Given the description of an element on the screen output the (x, y) to click on. 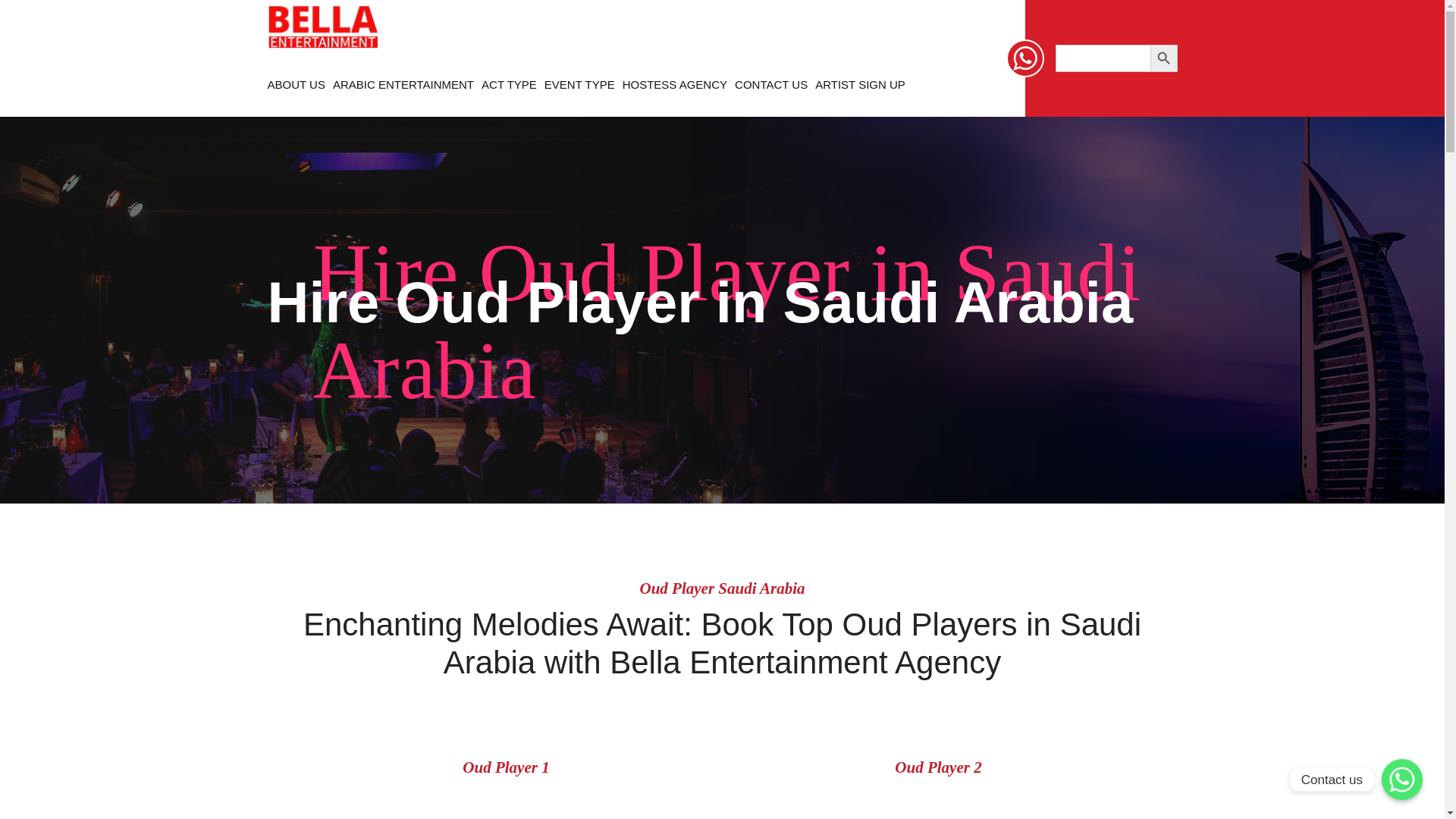
ARABIC ENTERTAINMENT (403, 84)
ABOUT US (295, 84)
